Given the description of an element on the screen output the (x, y) to click on. 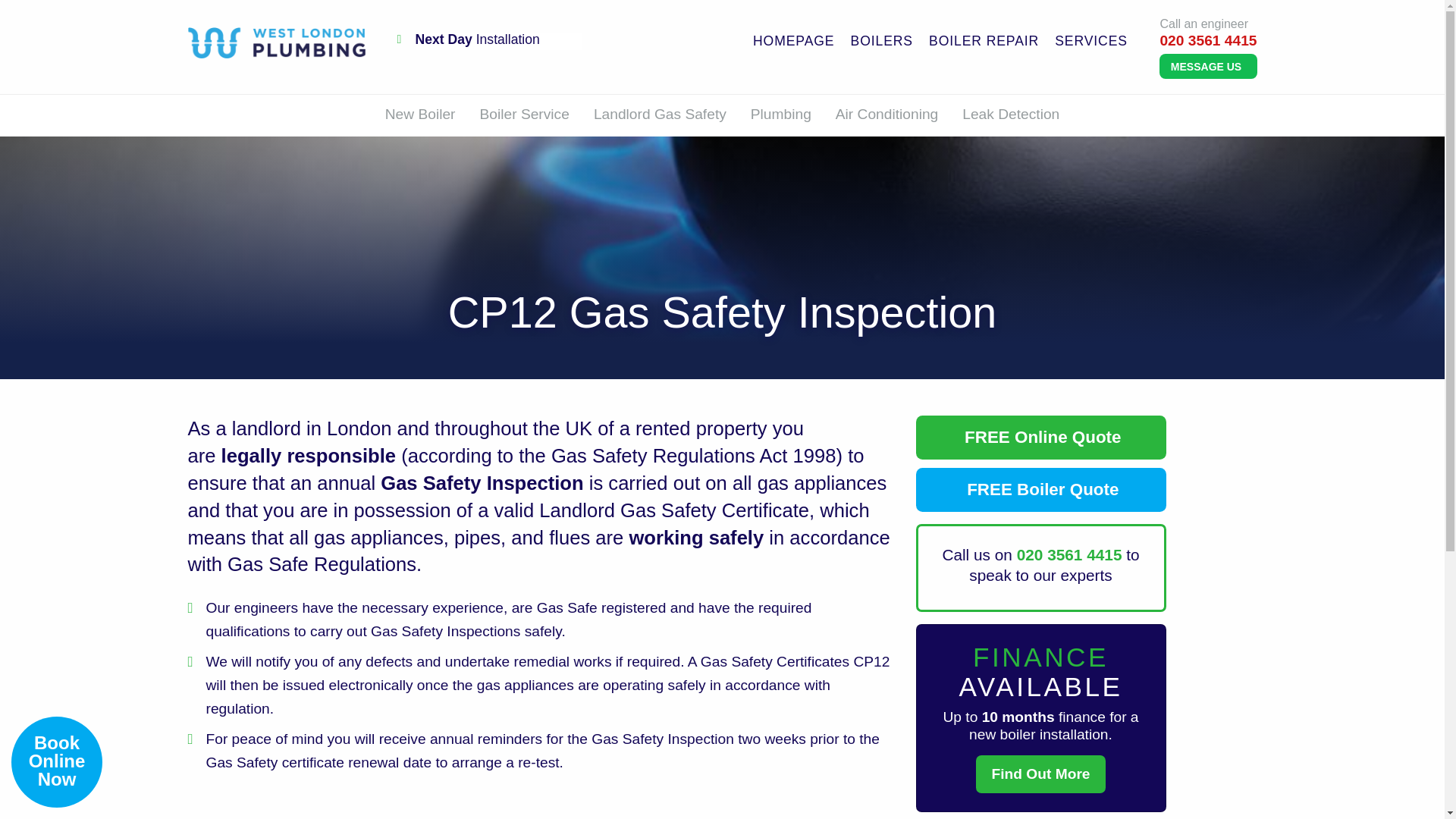
MESSAGE US (1207, 65)
Landlord Gas Safety (659, 113)
Leak Detection (1010, 113)
Boiler Service (523, 113)
FREE Boiler Quote (1040, 489)
Air Conditioning (887, 113)
BOILER REPAIR (983, 41)
New Boiler (419, 113)
FREE Online Quote (1040, 437)
SERVICES (1090, 41)
HOMEPAGE (793, 41)
Plumbing (781, 113)
020 3561 4415 (1207, 40)
BOILERS (882, 41)
